Given the description of an element on the screen output the (x, y) to click on. 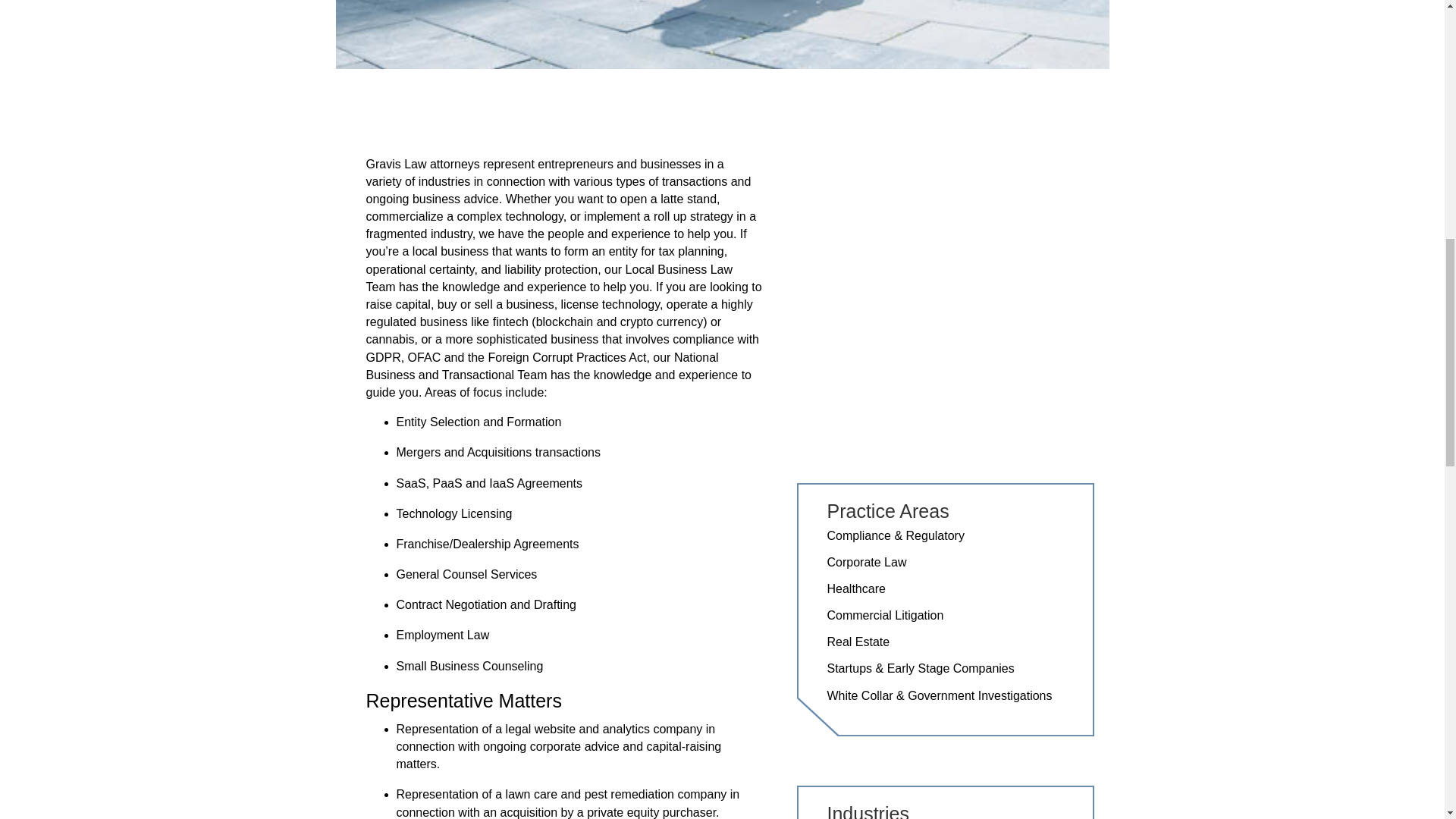
Real Estate (858, 641)
Healthcare (856, 588)
Commercial Litigation (885, 615)
Corporate Law (866, 562)
